Given the description of an element on the screen output the (x, y) to click on. 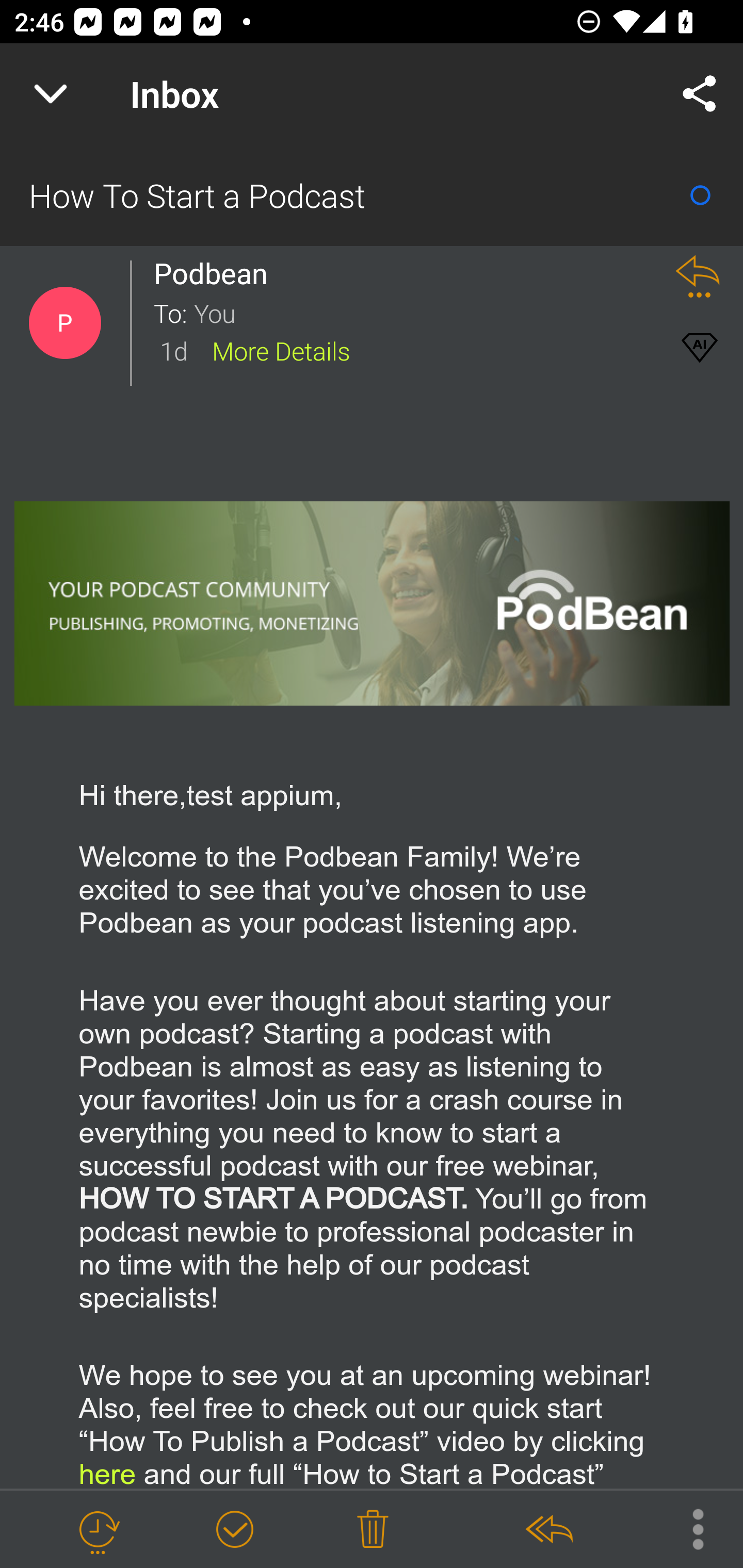
Navigate up (50, 93)
Share (699, 93)
Mark as Read (699, 194)
Podbean (215, 273)
Contact Details (64, 322)
More Details (280, 349)
header_v1 (372, 602)
here (107, 1472)
More Options (687, 1528)
Snooze (97, 1529)
Mark as Done (234, 1529)
Delete (372, 1529)
Reply All (548, 1529)
